Given the description of an element on the screen output the (x, y) to click on. 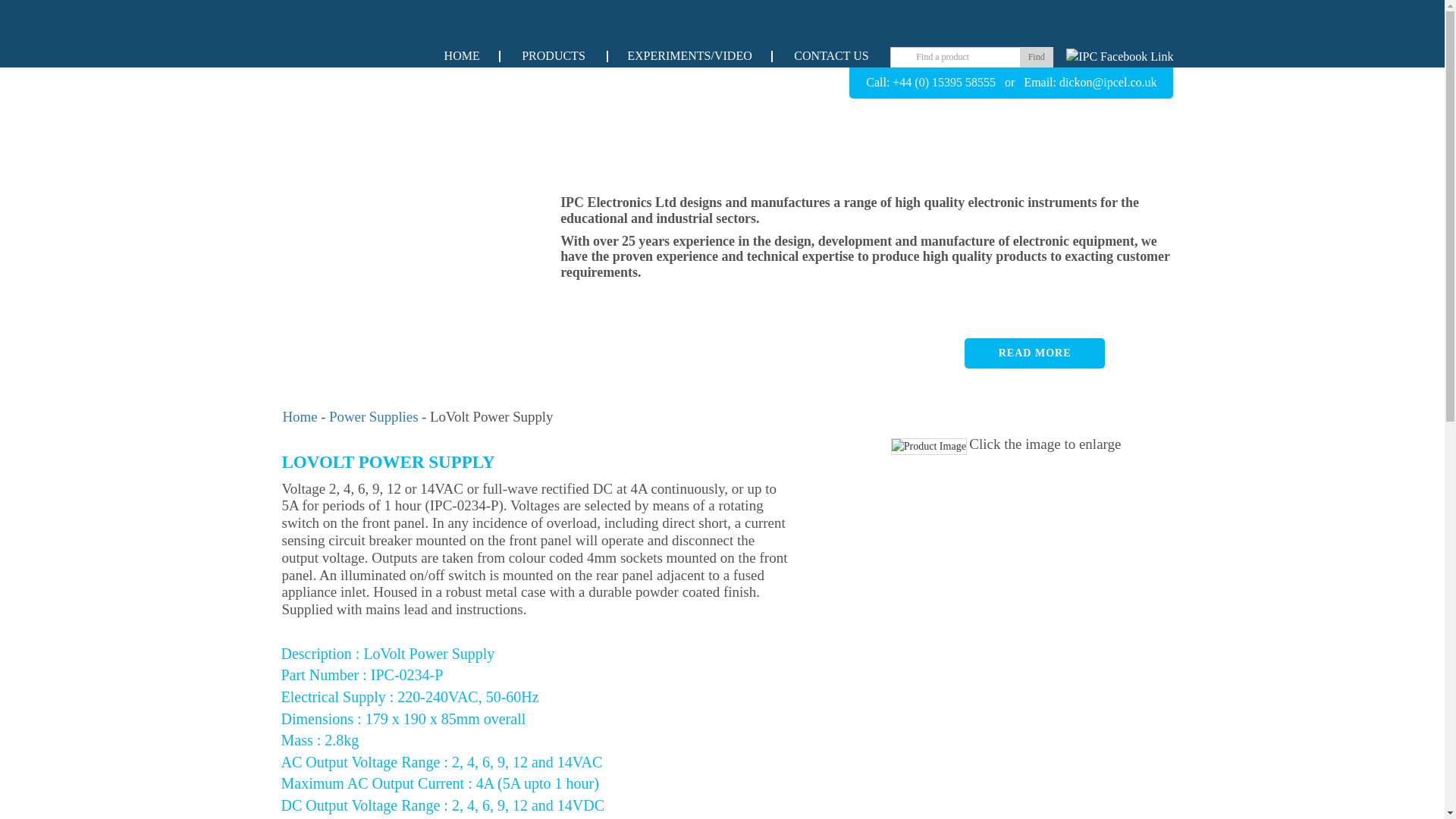
Find (1036, 56)
Power Supplies (373, 416)
Click the image to enlarge (1045, 444)
READ MORE (1034, 353)
CONTACT US (830, 55)
PRODUCTS (553, 55)
HOME (462, 55)
Home (299, 416)
